Given the description of an element on the screen output the (x, y) to click on. 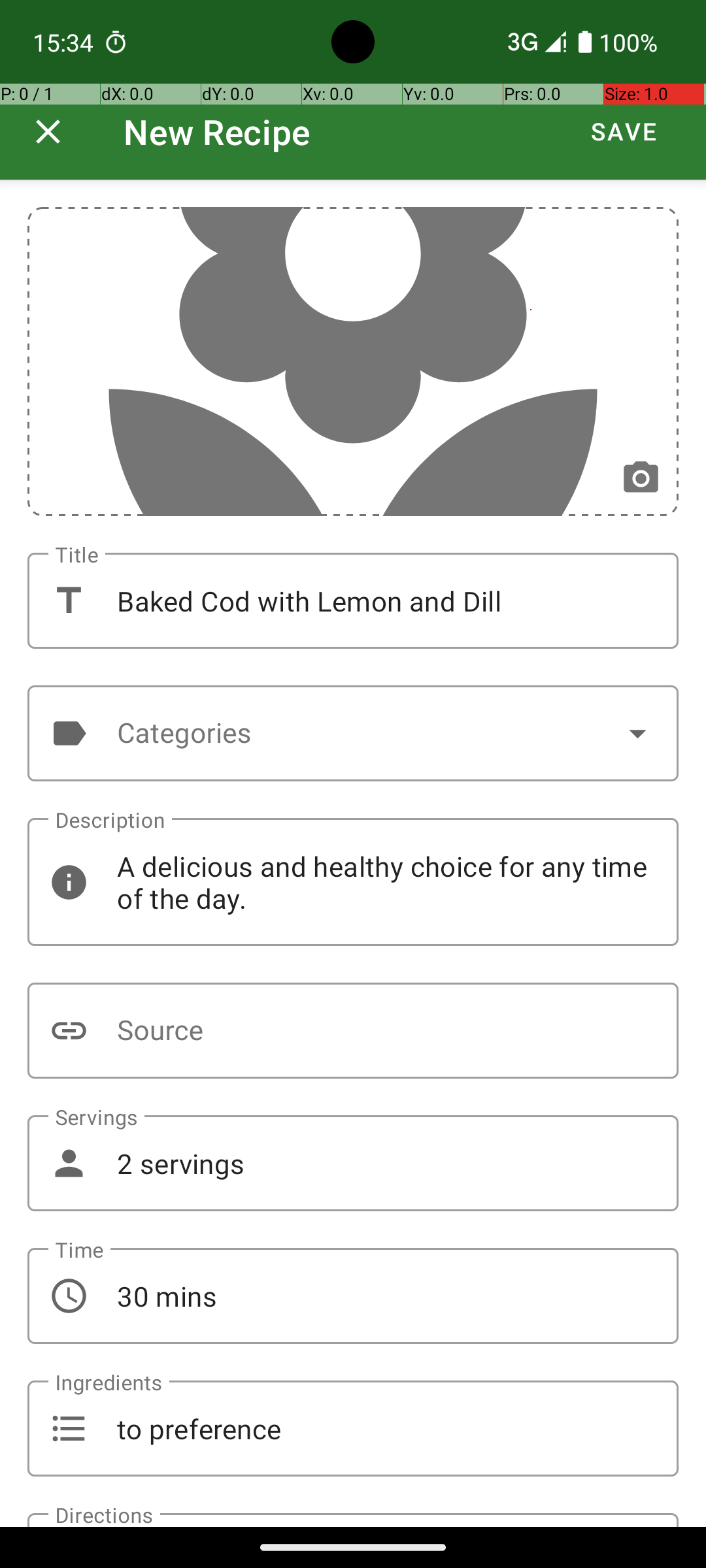
Place cod fillets in a baking dish, season with lemon juice, dill, salt, and pepper. Bake until fish flakes easily. Feel free to substitute with ingredients you have on hand. Element type: android.widget.EditText (352, 1519)
